Given the description of an element on the screen output the (x, y) to click on. 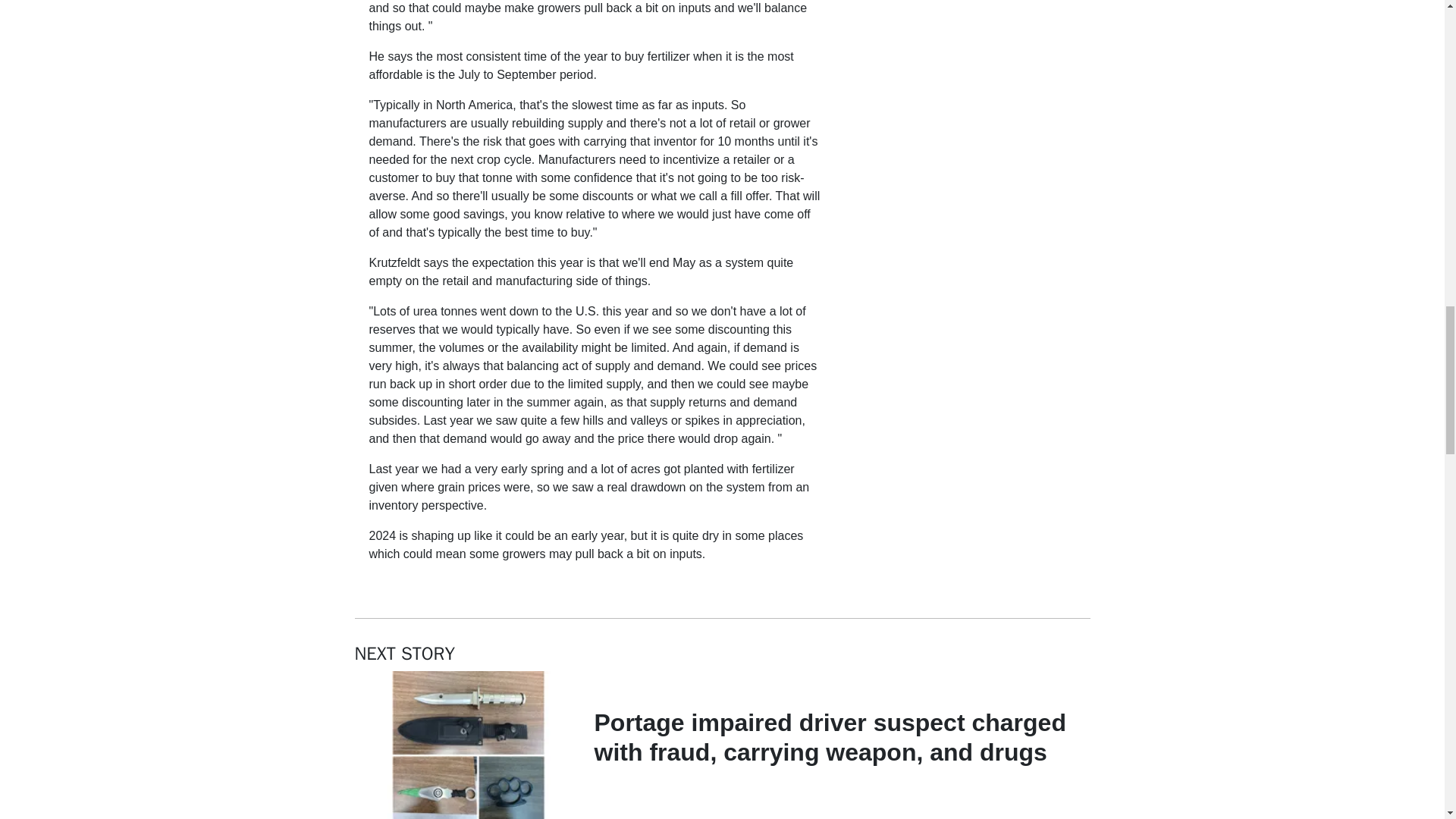
3rd party ad content (961, 40)
